Given the description of an element on the screen output the (x, y) to click on. 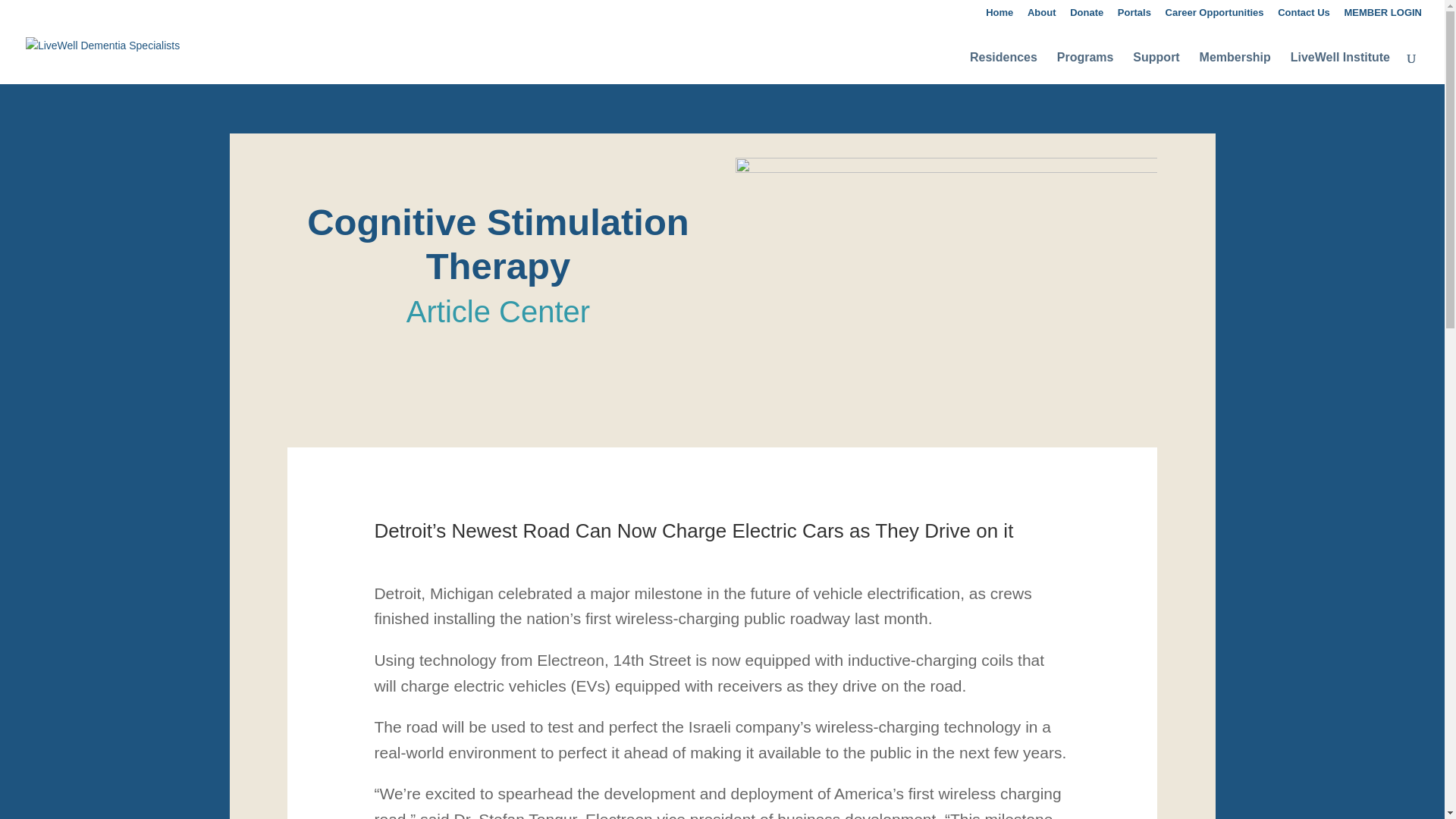
Portals (1134, 16)
About (1042, 16)
Home (999, 16)
Programs (1085, 72)
Residences (1002, 72)
Donate (1086, 16)
Membership (1235, 72)
LiveWell Institute (1340, 72)
MEMBER LOGIN (1382, 16)
Career Opportunities (1214, 16)
